Given the description of an element on the screen output the (x, y) to click on. 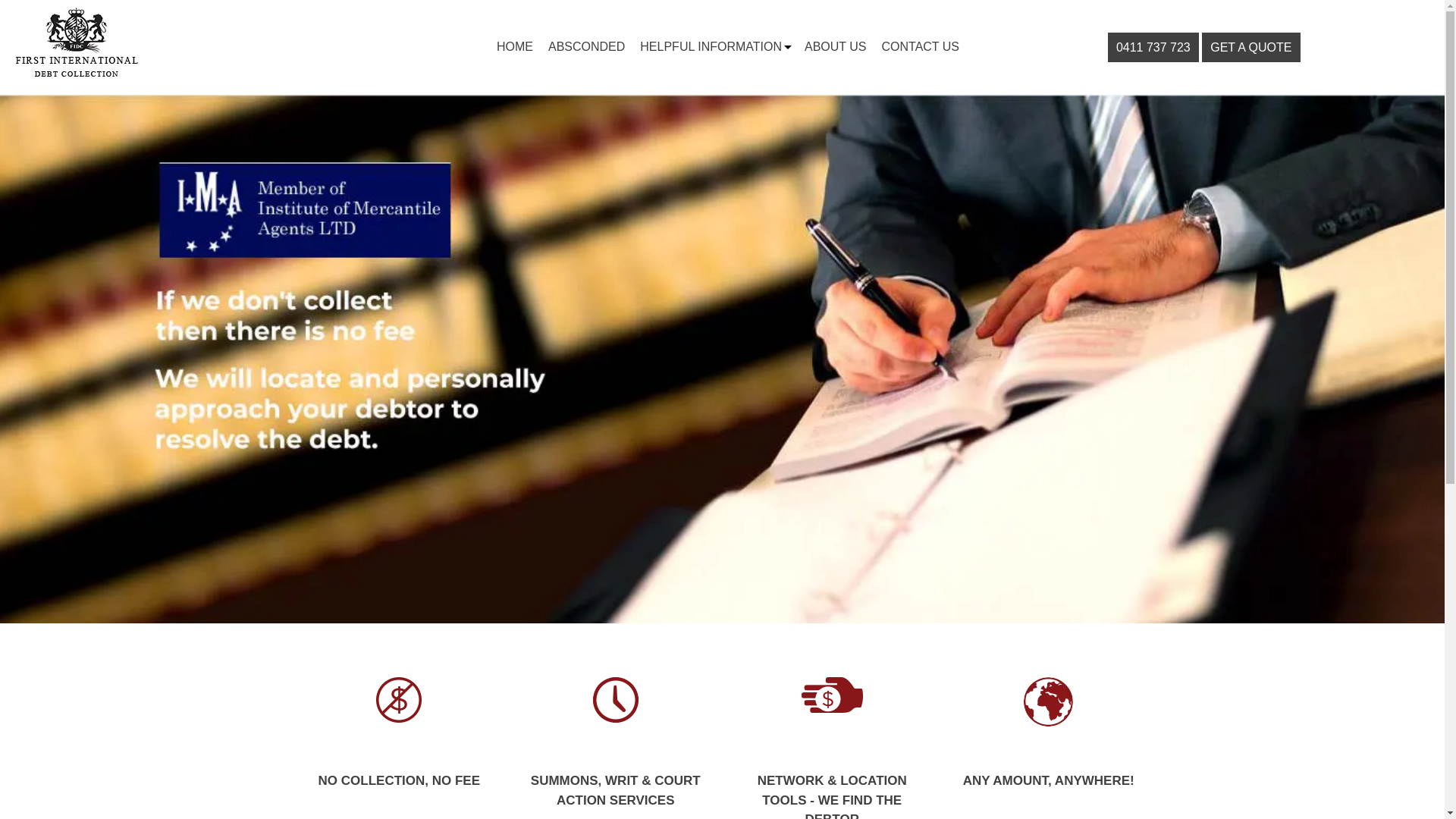
ABOUT US Element type: text (835, 46)
ABSCONDED Element type: text (586, 46)
Skip to content Element type: text (199, 9)
HOME Element type: text (514, 46)
0411 737 723 Element type: text (1152, 47)
HELPFUL INFORMATION Element type: text (710, 46)
GET A QUOTE Element type: text (1250, 47)
CONTACT US Element type: text (920, 46)
